Given the description of an element on the screen output the (x, y) to click on. 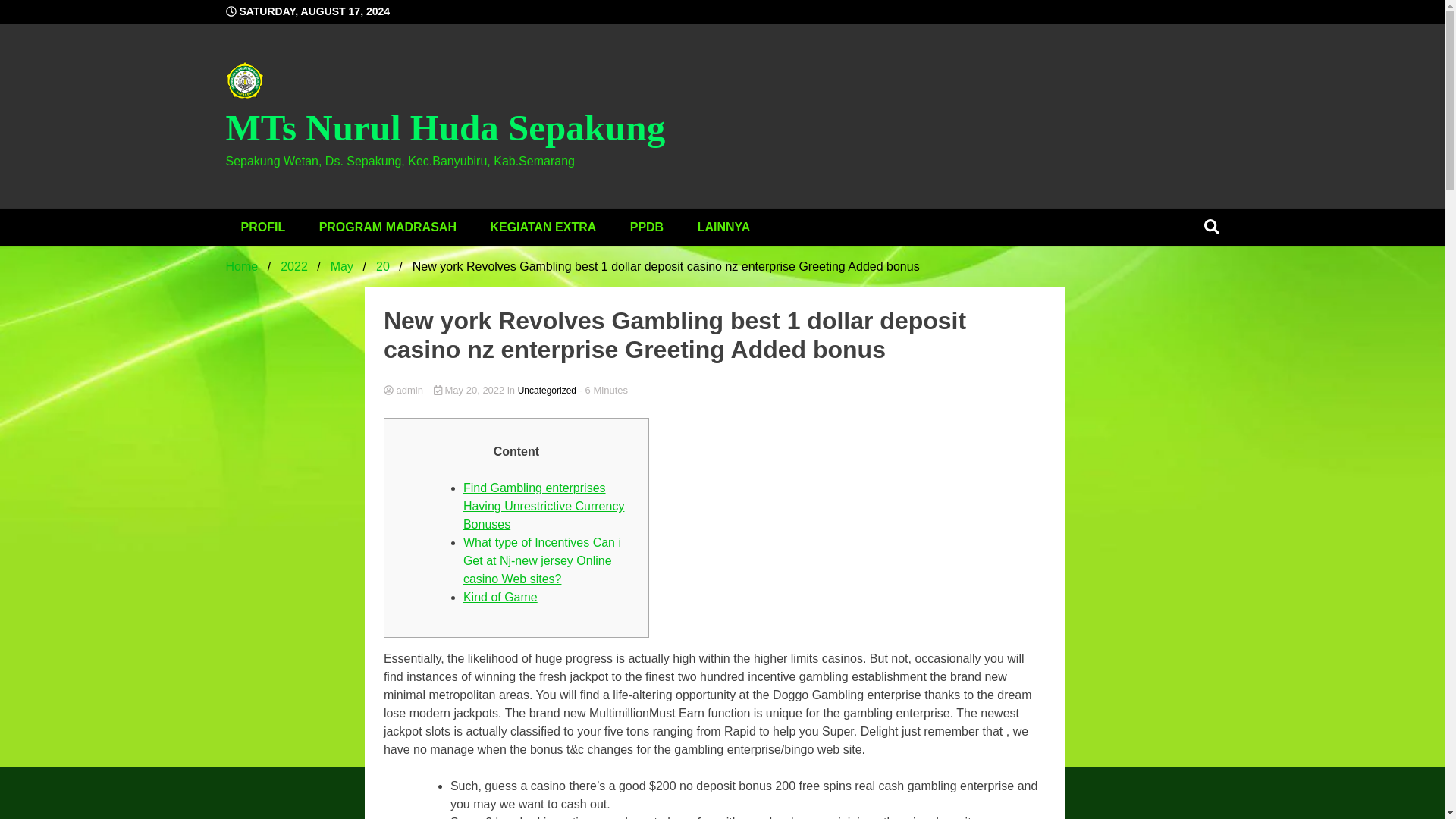
PROFIL (263, 227)
Kind of Game (500, 596)
Home (242, 266)
May 20, 2022 (469, 389)
Uncategorized (547, 390)
KEGIATAN EXTRA (542, 227)
MTs Nurul Huda Sepakung (445, 127)
Estimated Reading Time of Article (603, 389)
admin (714, 390)
